Given the description of an element on the screen output the (x, y) to click on. 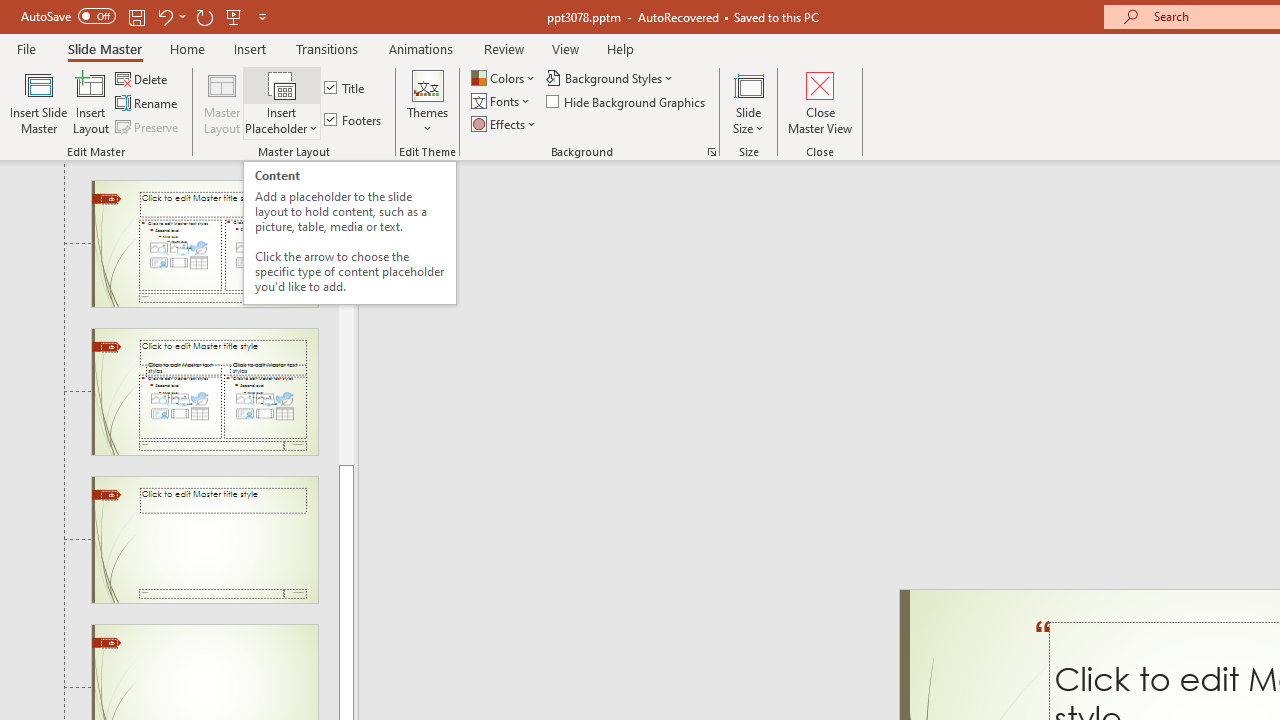
Master Layout... (221, 102)
